Given the description of an element on the screen output the (x, y) to click on. 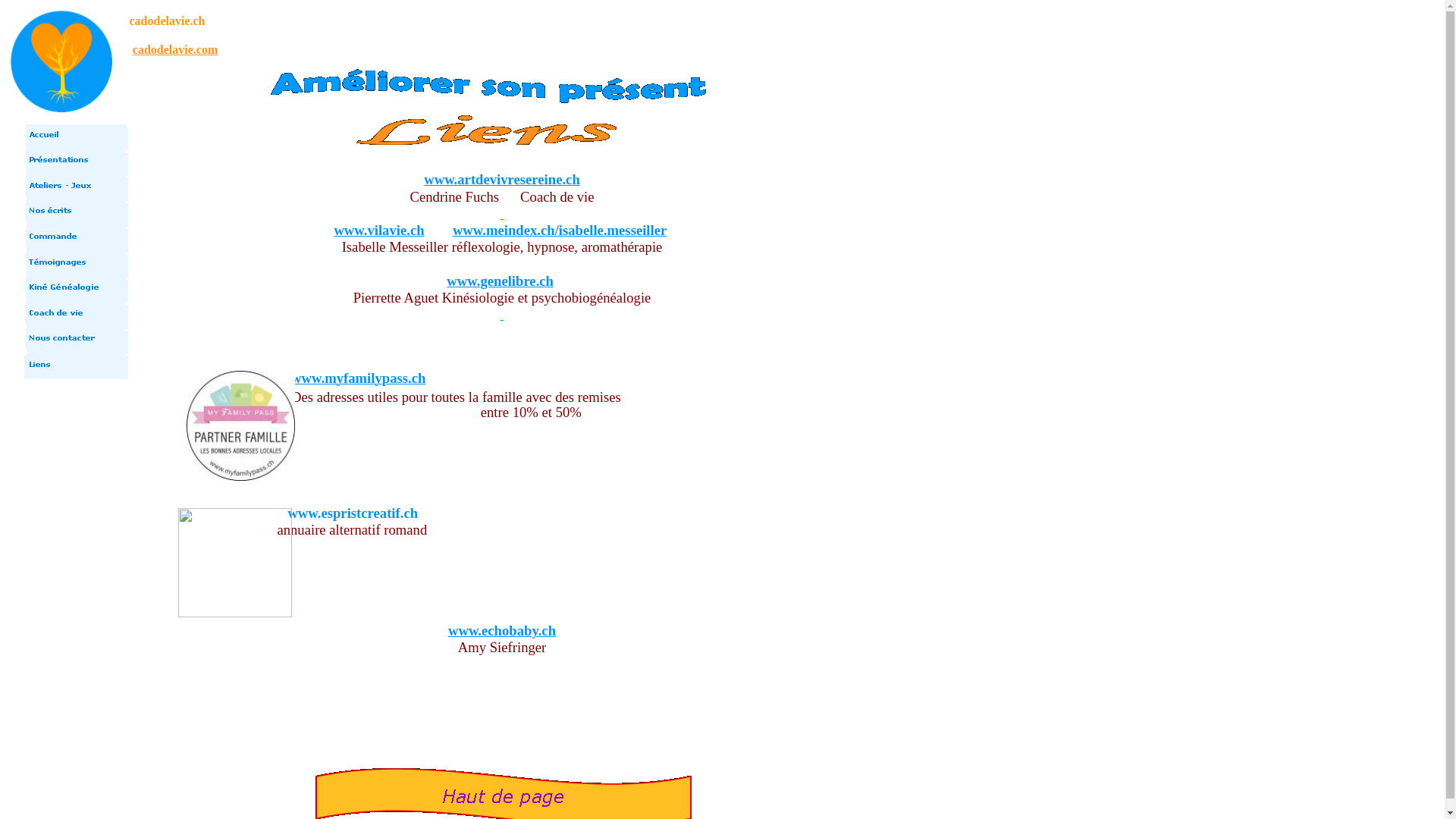
cadodelavie.com Element type: text (174, 50)
www.artdevivresereine.ch Element type: text (501, 180)
www.vilavie.ch Element type: text (378, 231)
www.echobaby.ch Element type: text (501, 632)
  Element type: text (502, 315)
www.myfamilypass.ch Element type: text (358, 380)
www.genelibre.ch Element type: text (499, 282)
  Element type: text (502, 214)
www.meindex.ch/isabelle.messeiller Element type: text (559, 231)
